Given the description of an element on the screen output the (x, y) to click on. 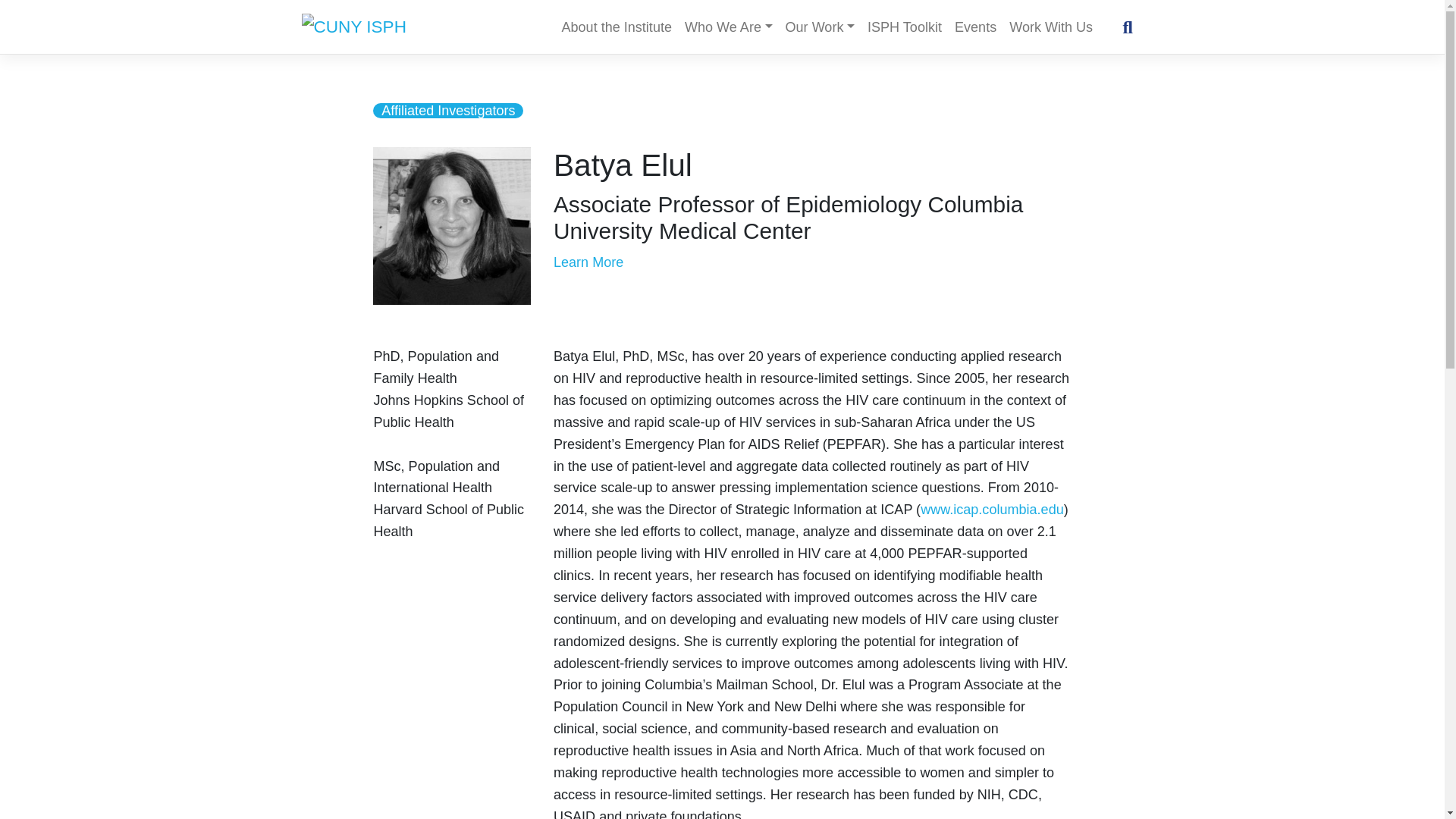
Work With Us (1051, 27)
Who We Are (728, 27)
Who We Are (728, 27)
ISPH Toolkit (905, 27)
Events (975, 27)
www.icap.columbia.edu (992, 509)
Our Work (819, 27)
Affiliated Investigators (447, 110)
Our Work (819, 27)
ISPH Toolkit (905, 27)
